Given the description of an element on the screen output the (x, y) to click on. 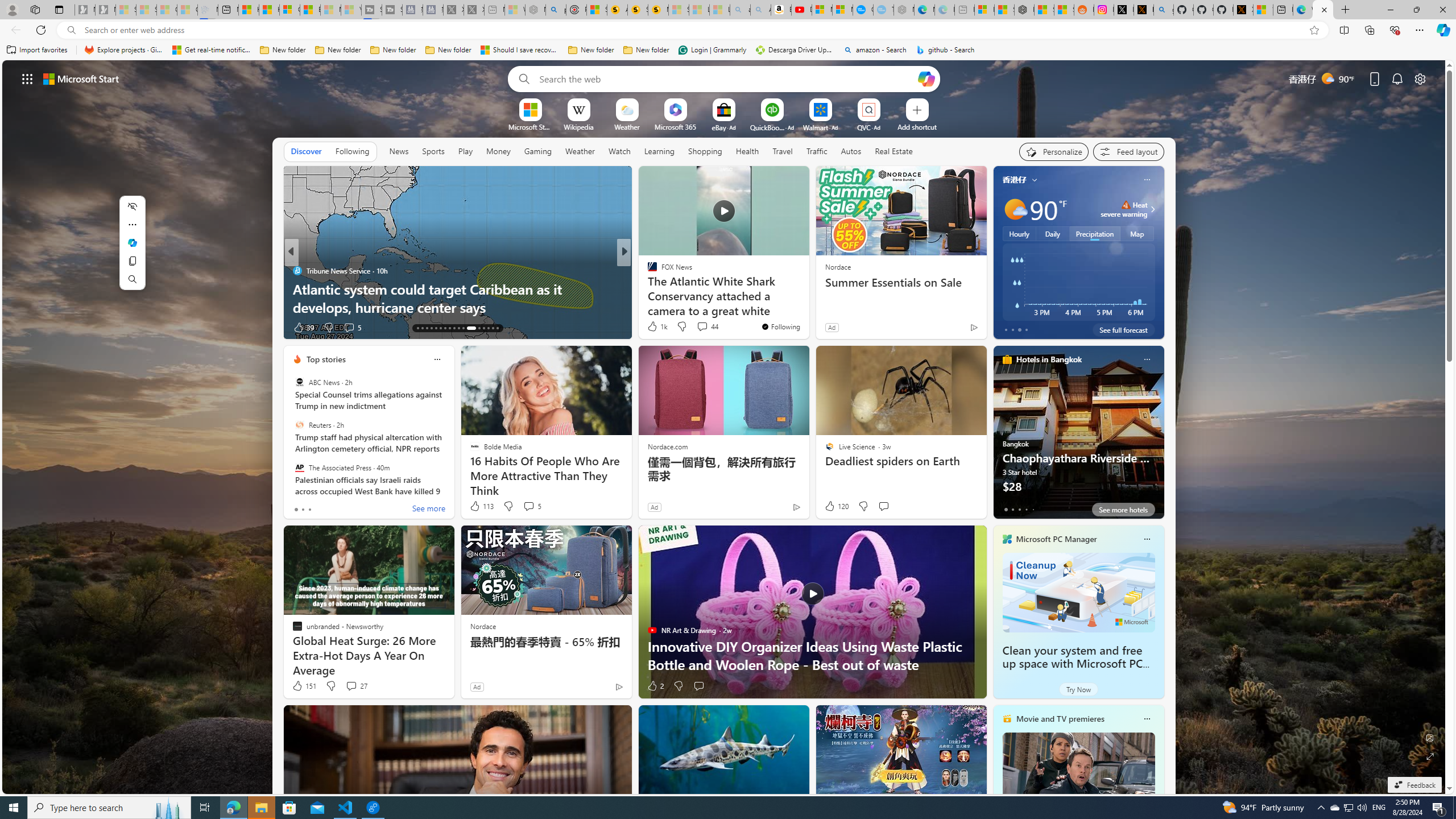
Nordace - Summer Adventures 2024 - Sleeping (534, 9)
View comments 3 Comment (698, 327)
Mini menu on text selection (132, 242)
151 Like (303, 685)
hotels-header-icon (1006, 358)
Nordace - Nordace has arrived Hong Kong - Sleeping (903, 9)
Edit Background (1430, 737)
Nordace - Duffels (1024, 9)
Favorites bar (728, 49)
